Given the description of an element on the screen output the (x, y) to click on. 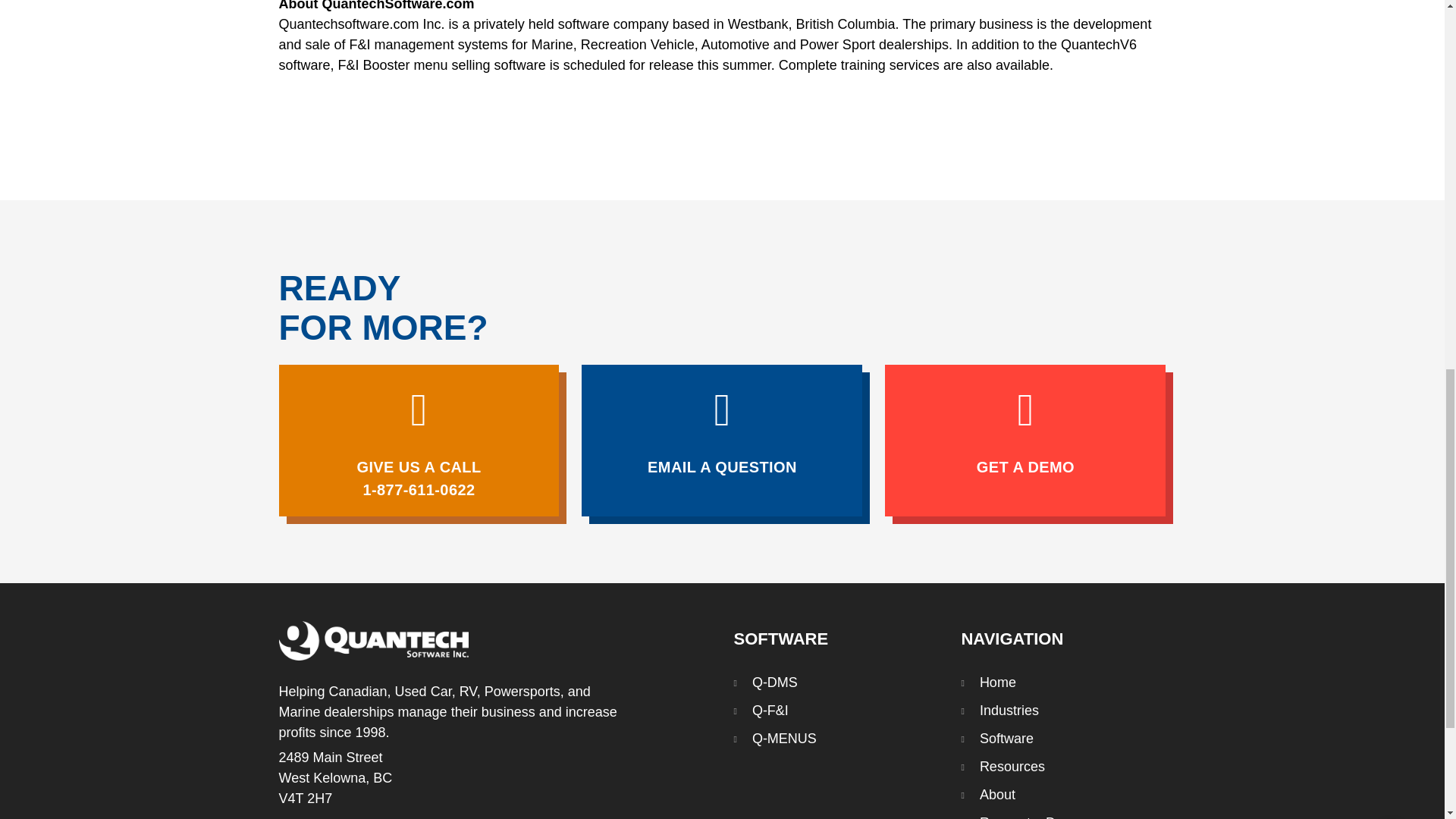
Q-DMS (764, 682)
